Given the description of an element on the screen output the (x, y) to click on. 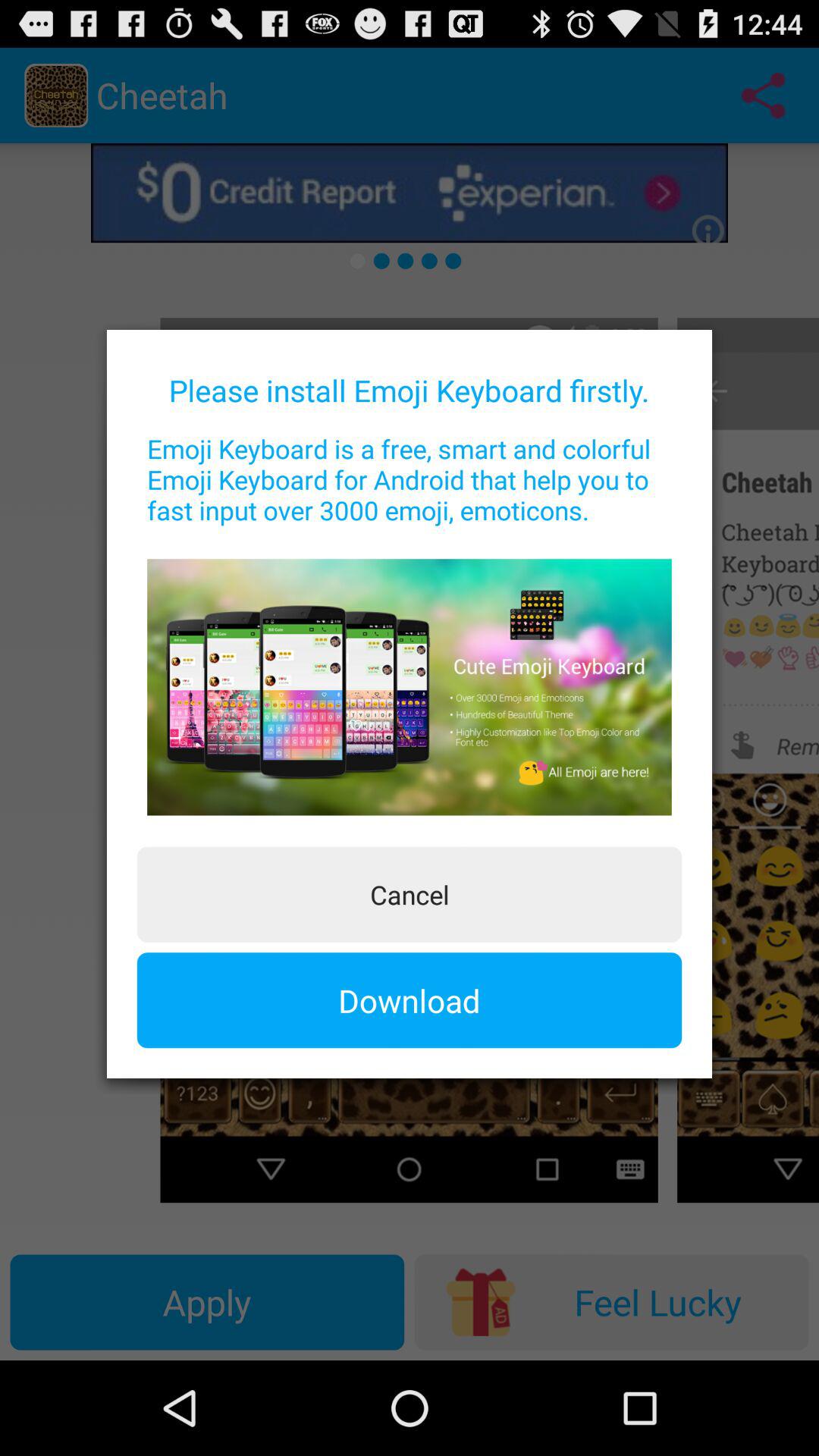
click the button above the download (409, 894)
